Given the description of an element on the screen output the (x, y) to click on. 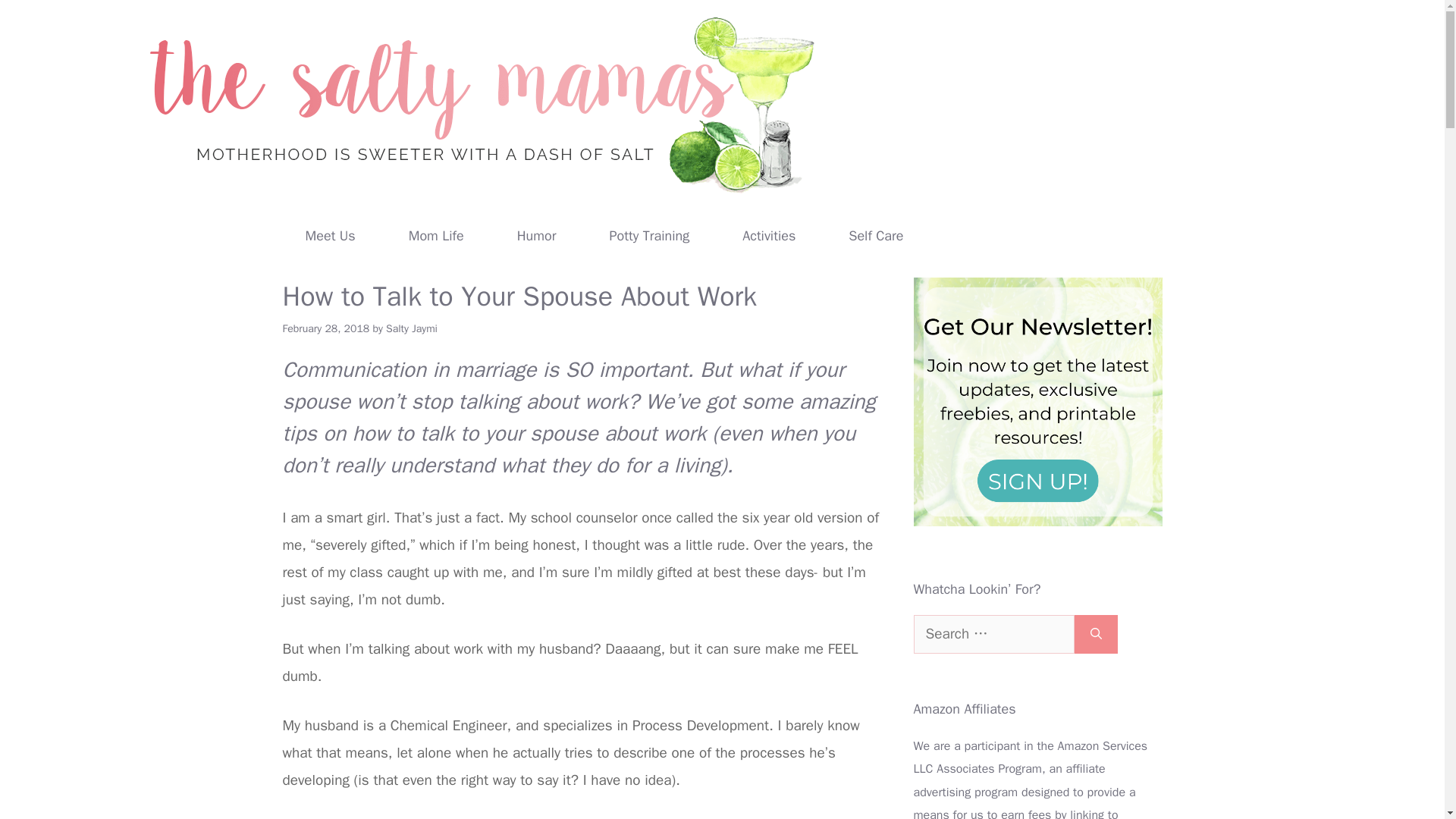
Humor (536, 235)
Mom Life (435, 235)
Potty Training (649, 235)
Meet Us (330, 235)
Activities (769, 235)
Salty Jaymi (411, 328)
View all posts by Salty Jaymi (411, 328)
Search for: (993, 634)
Self Care (876, 235)
